Given the description of an element on the screen output the (x, y) to click on. 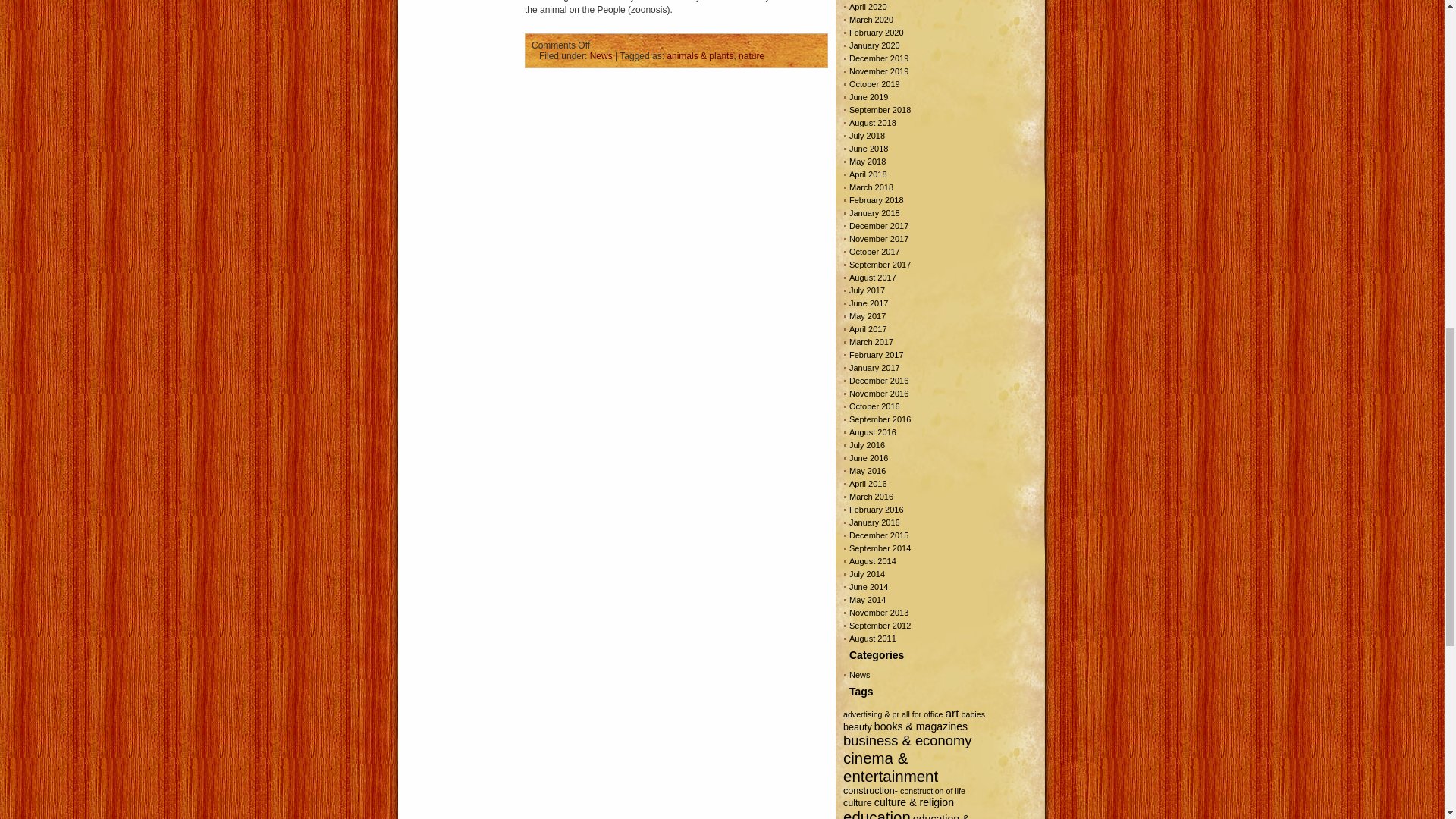
September 2018 (879, 109)
April 2018 (867, 174)
February 2018 (876, 199)
July 2018 (866, 135)
January 2018 (873, 212)
News (600, 55)
February 2020 (876, 31)
October 2019 (873, 83)
January 2020 (873, 44)
March 2018 (870, 186)
